Given the description of an element on the screen output the (x, y) to click on. 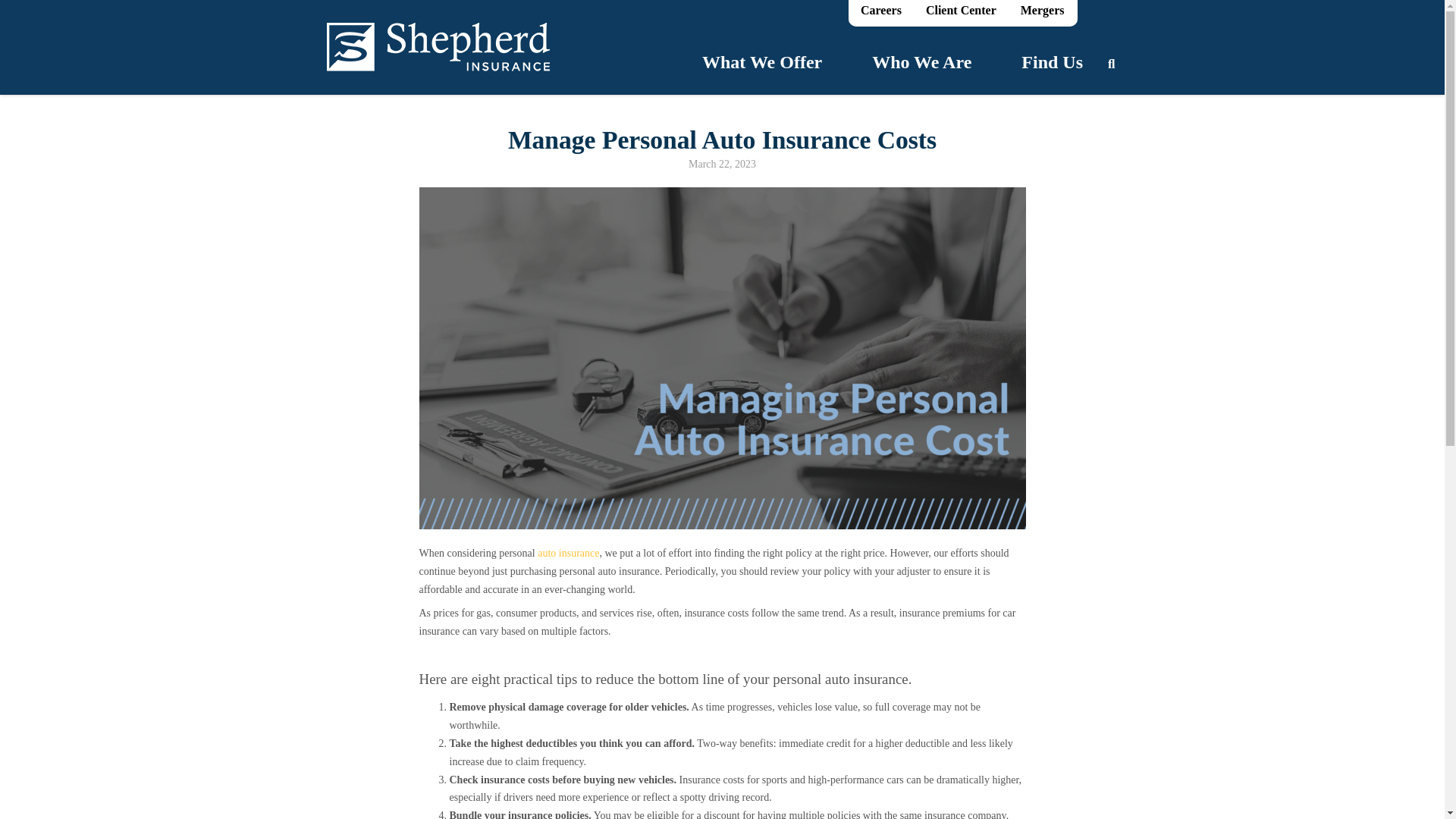
FAQ (742, 685)
Client Center (556, 652)
News (744, 669)
Bonds (542, 702)
Privacy Policy (353, 719)
Employee Center (1037, 790)
Site Map (750, 702)
Our Locations (353, 652)
auto insurance (567, 552)
Certificate of Insurance (576, 685)
